Given the description of an element on the screen output the (x, y) to click on. 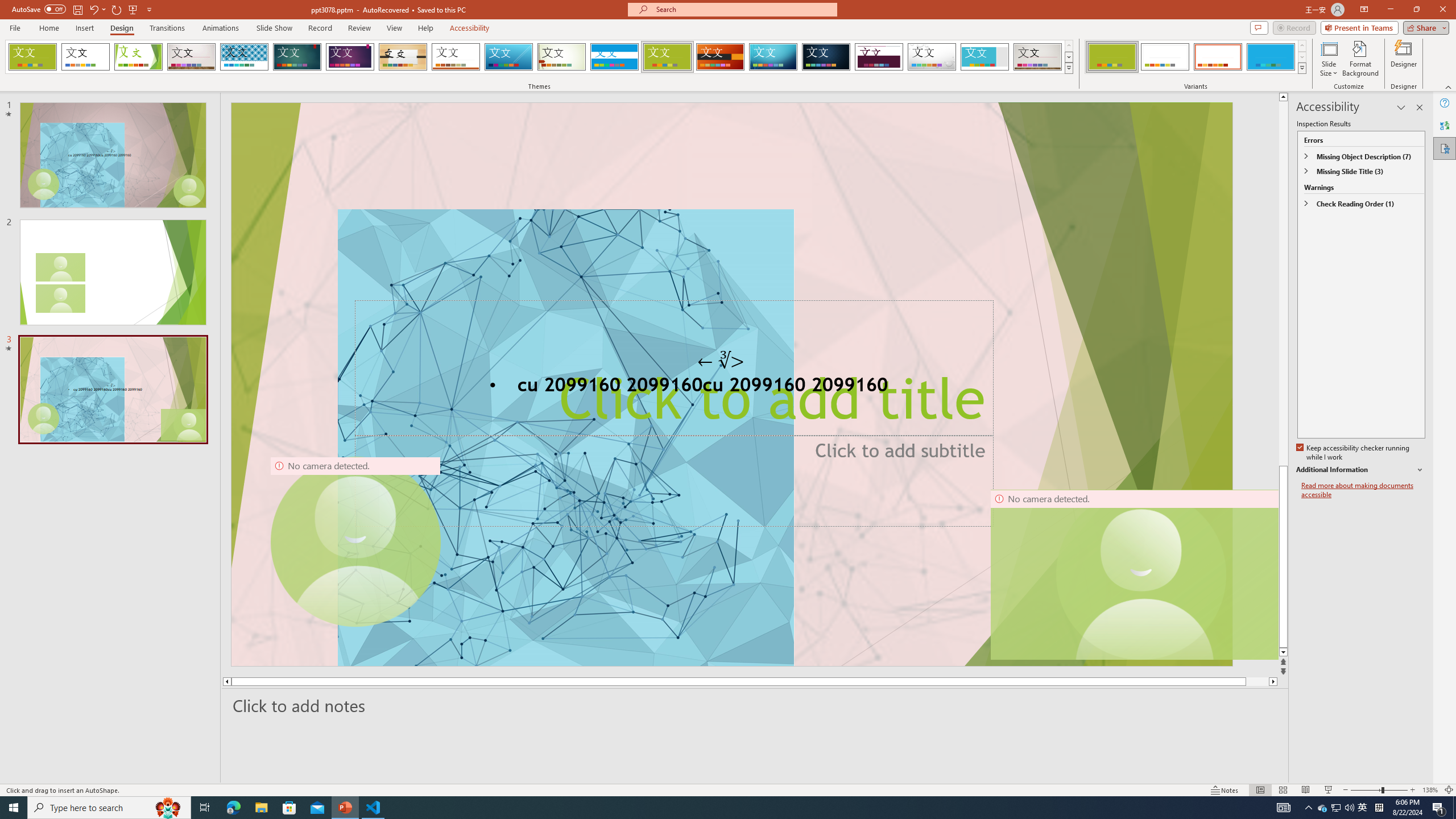
Office Theme (85, 56)
Facet (138, 56)
Keep accessibility checker running while I work (1353, 452)
Berlin (720, 56)
Ion (296, 56)
Frame (984, 56)
Basis (667, 56)
